Given the description of an element on the screen output the (x, y) to click on. 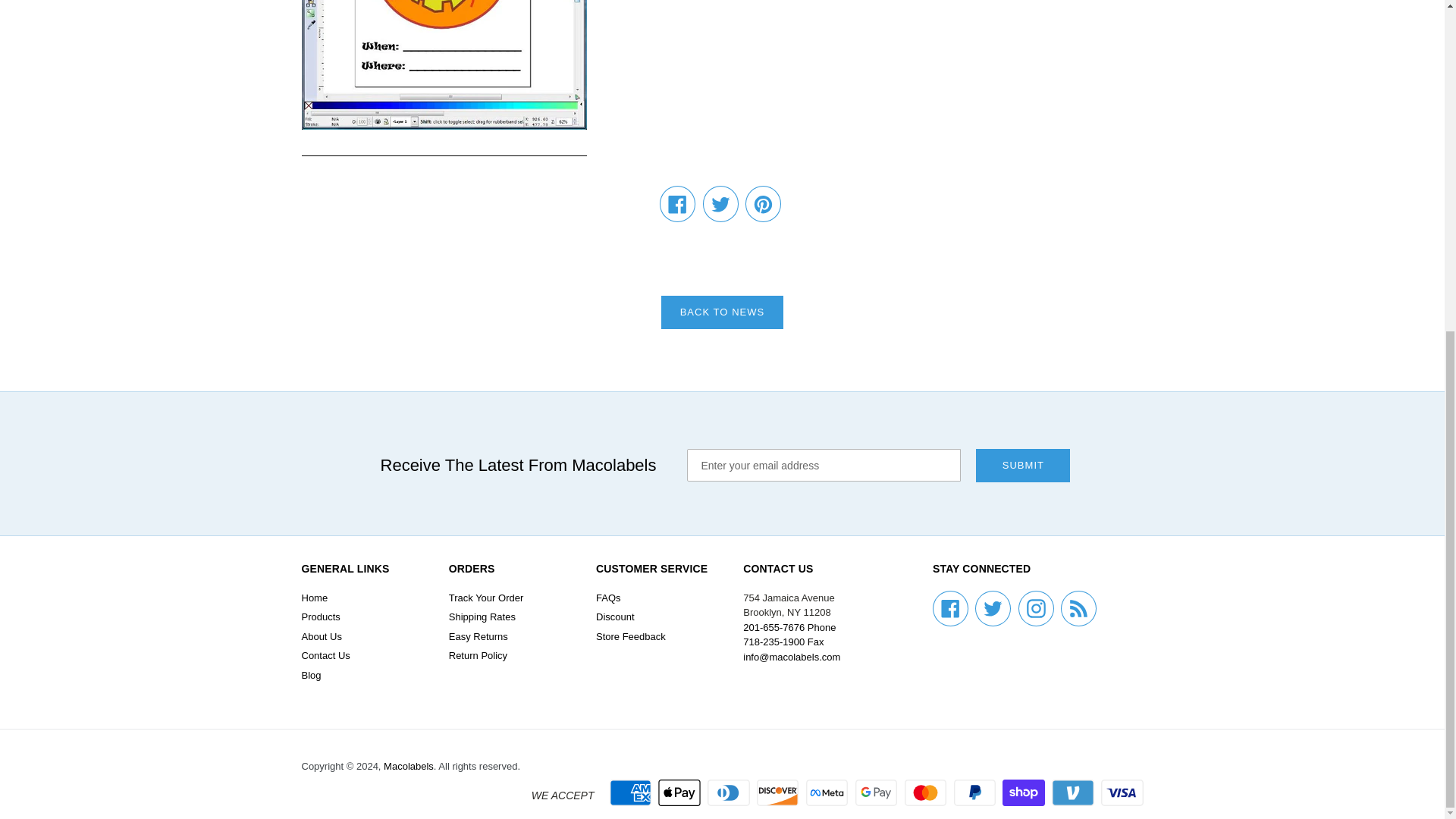
Tweet on Twitter (719, 203)
Macolabels on Instagram (1035, 608)
Macolabels on Twitter (992, 608)
Pin on Pinterest (762, 203)
Macolabels on Facebook (950, 608)
Share on Facebook (677, 203)
